Given the description of an element on the screen output the (x, y) to click on. 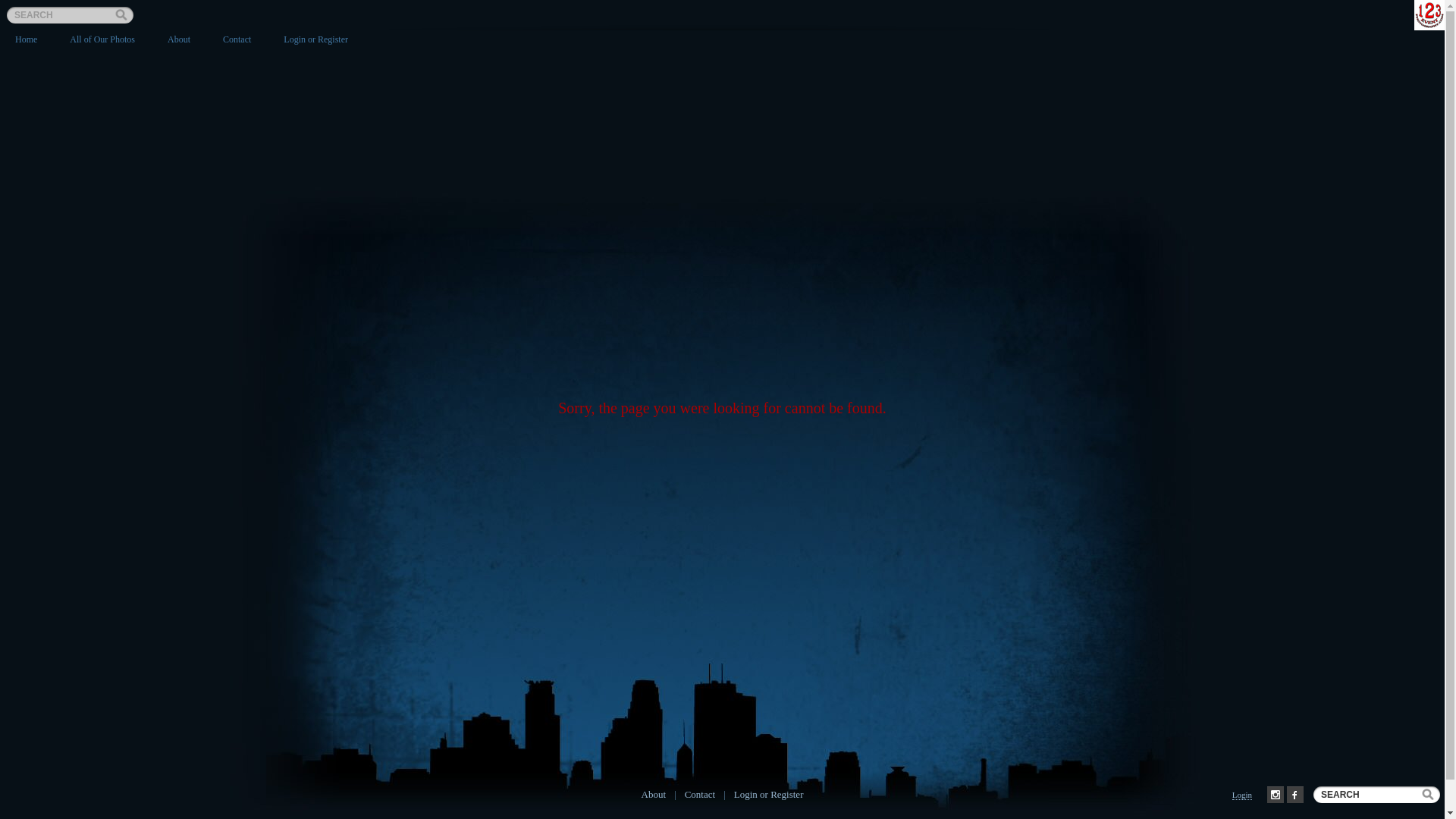
Contact Element type: text (701, 793)
Contact Element type: text (236, 39)
All of Our Photos Element type: text (102, 39)
Login or Register Element type: text (768, 793)
About Element type: text (654, 793)
Login or Register Element type: text (315, 39)
Login Element type: text (1242, 795)
Home Element type: text (26, 39)
About Element type: text (178, 39)
